Given the description of an element on the screen output the (x, y) to click on. 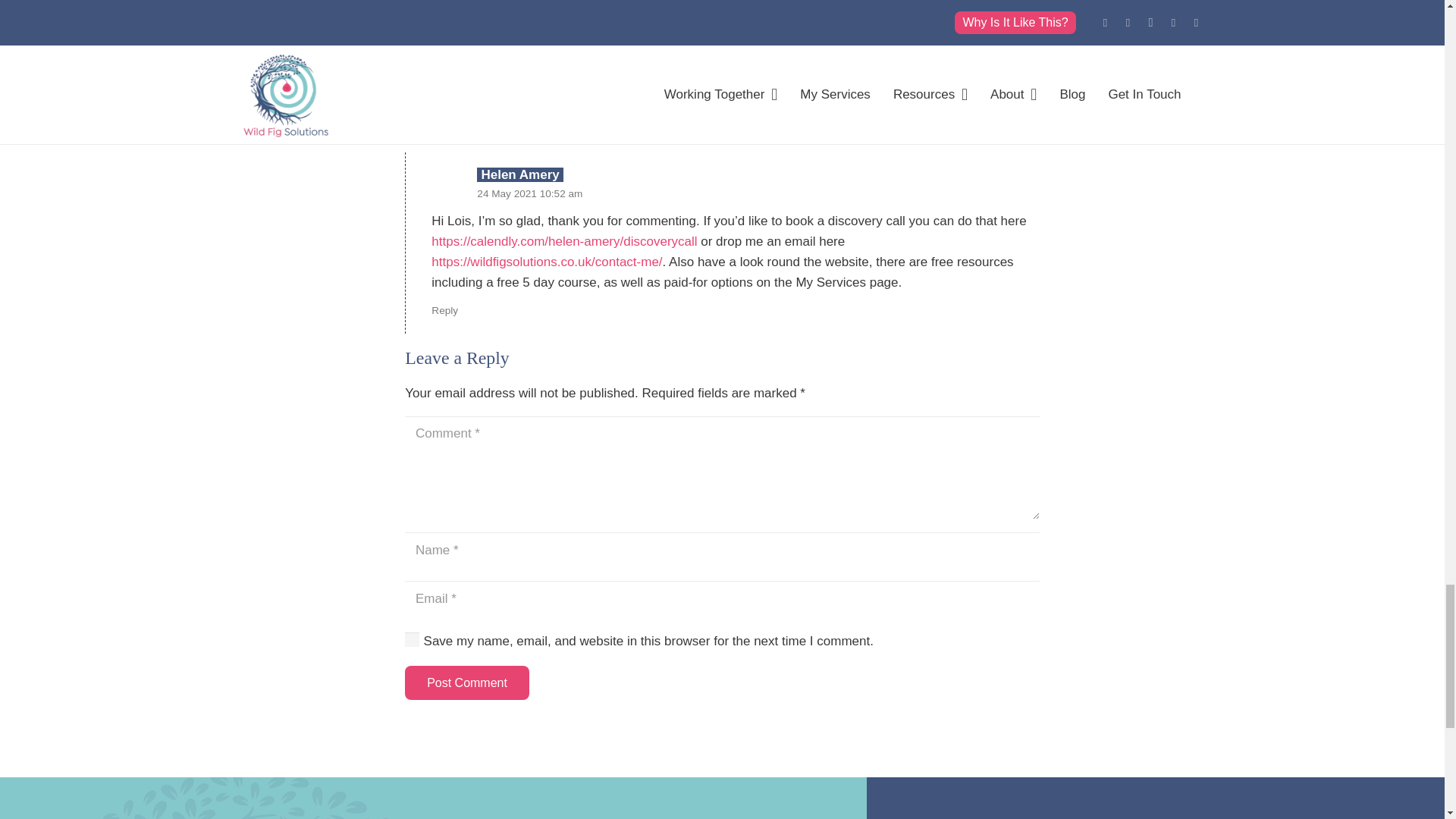
1 (411, 639)
Post Comment (466, 682)
24 May 2021 3:47 am (499, 52)
Reply (417, 129)
24 May 2021 3:47 am (499, 52)
24 May 2021 10:52 am (529, 193)
Reply (444, 310)
24 May 2021 10:52 am (529, 193)
